Given the description of an element on the screen output the (x, y) to click on. 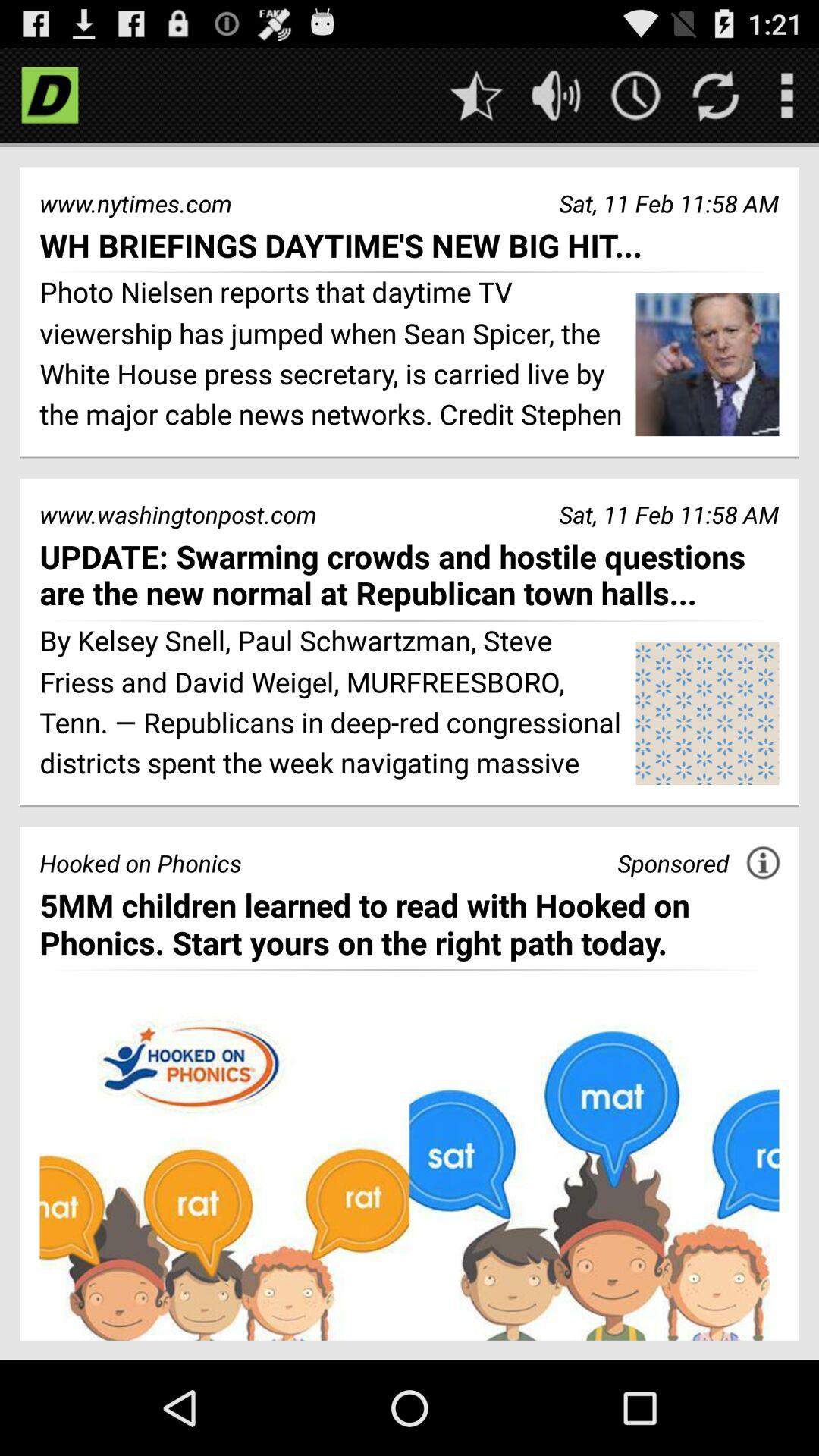
jump until the by kelsey snell icon (332, 704)
